Given the description of an element on the screen output the (x, y) to click on. 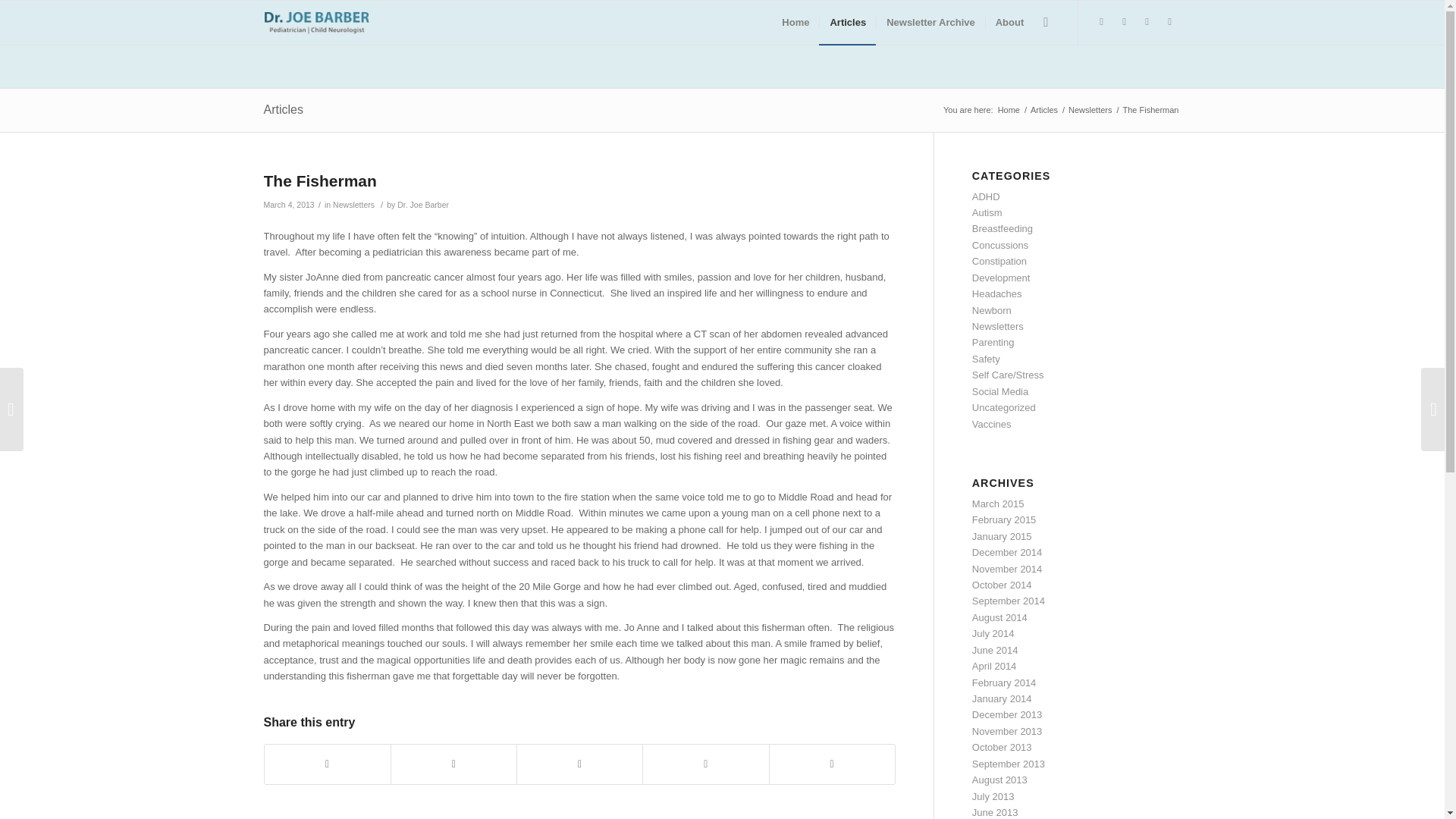
Newborn (991, 310)
Vaccines (991, 423)
Home (1008, 110)
Articles (1043, 110)
Dr. Joe Barber (422, 204)
About (1009, 22)
Newsletters (353, 204)
February 2015 (1004, 519)
The Fisherman (320, 180)
Home (794, 22)
